Given the description of an element on the screen output the (x, y) to click on. 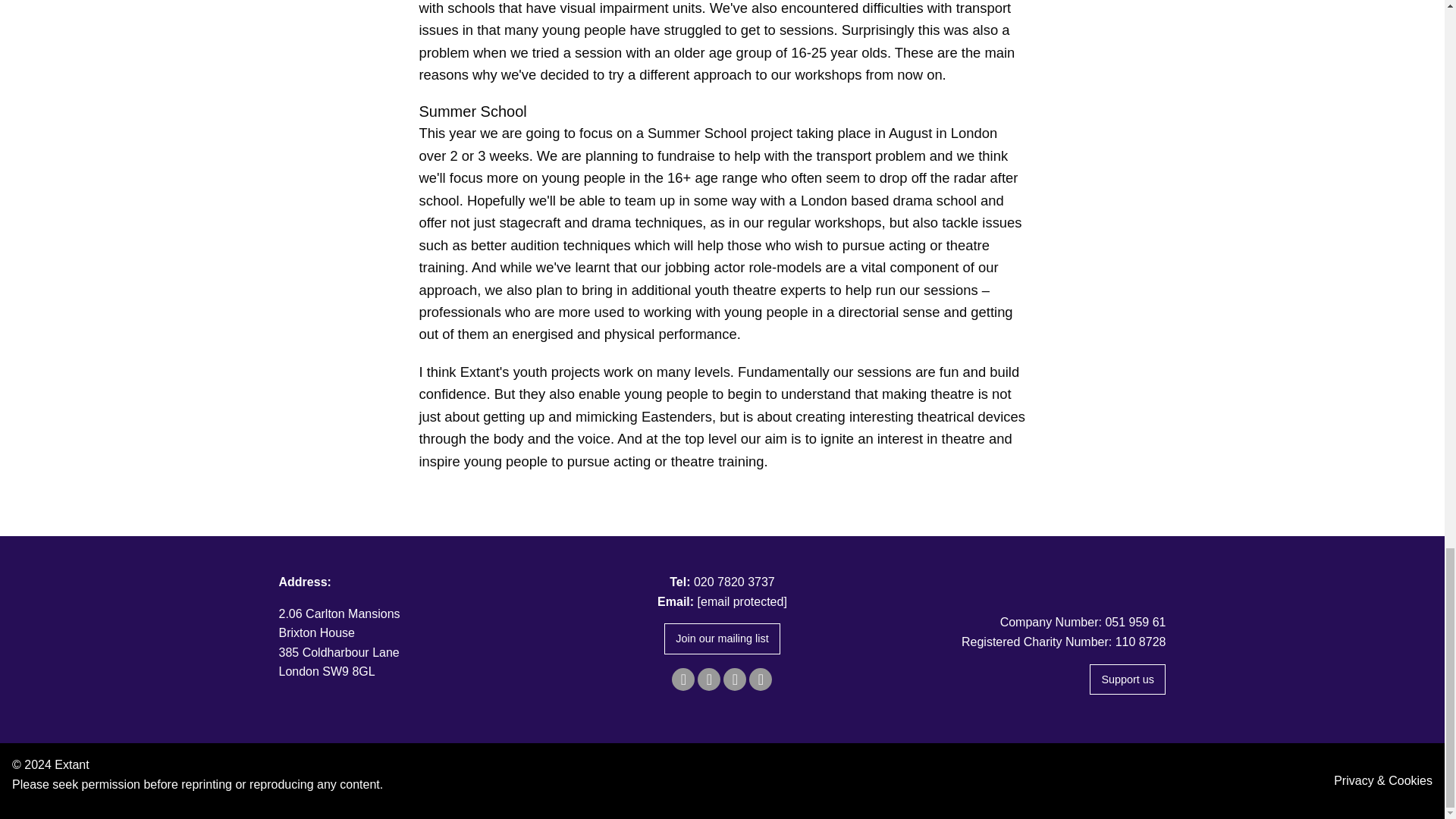
Support us (1127, 679)
facebook (682, 679)
YouTube (760, 679)
twitter (708, 679)
Join our mailing list (721, 638)
Arts Council (1025, 580)
Instagram (734, 679)
